Given the description of an element on the screen output the (x, y) to click on. 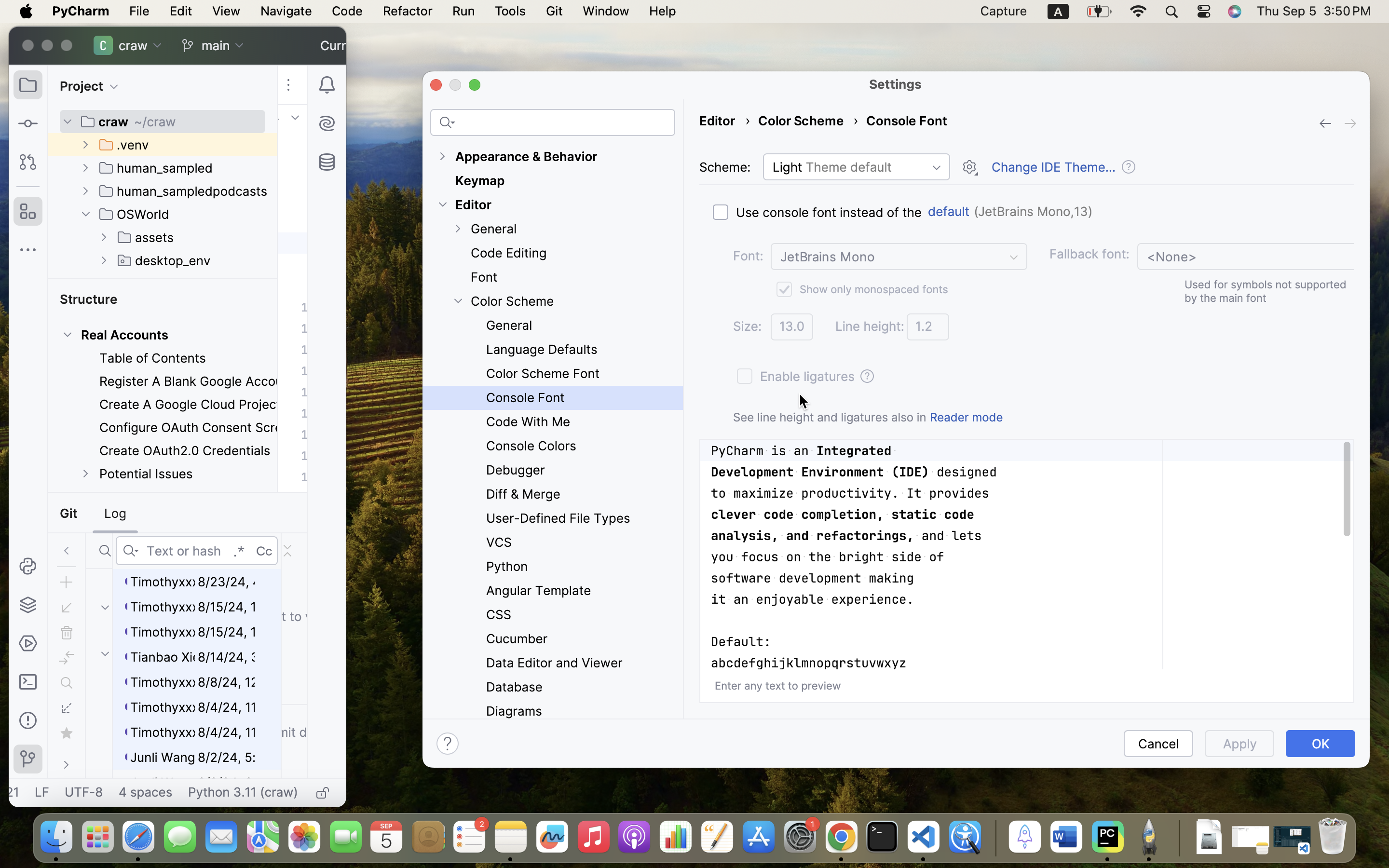
( Element type: AXStaticText (974, 211)
Scheme: Element type: AXStaticText (724, 167)
Fallback font: Element type: AXStaticText (1089, 253)
See line height and ligatures also in Reader mode Element type: AXTextField (868, 416)
